Given the description of an element on the screen output the (x, y) to click on. 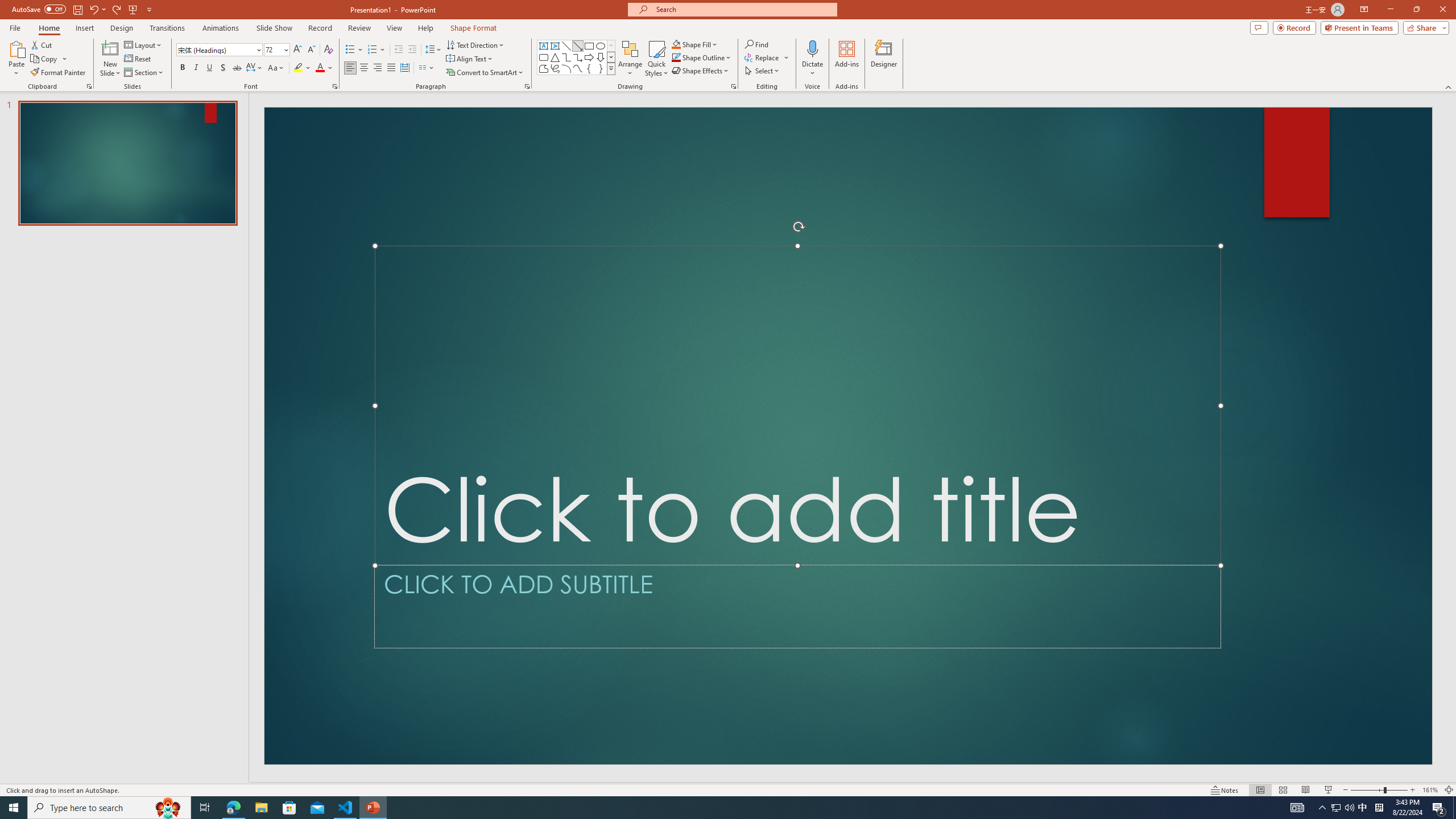
Change Case (276, 67)
Font Size (276, 49)
Connector: Elbow Arrow (577, 57)
Paragraph... (526, 85)
Line (566, 45)
Justify (390, 67)
Numbering (372, 49)
Increase Font Size (297, 49)
Strikethrough (237, 67)
